Given the description of an element on the screen output the (x, y) to click on. 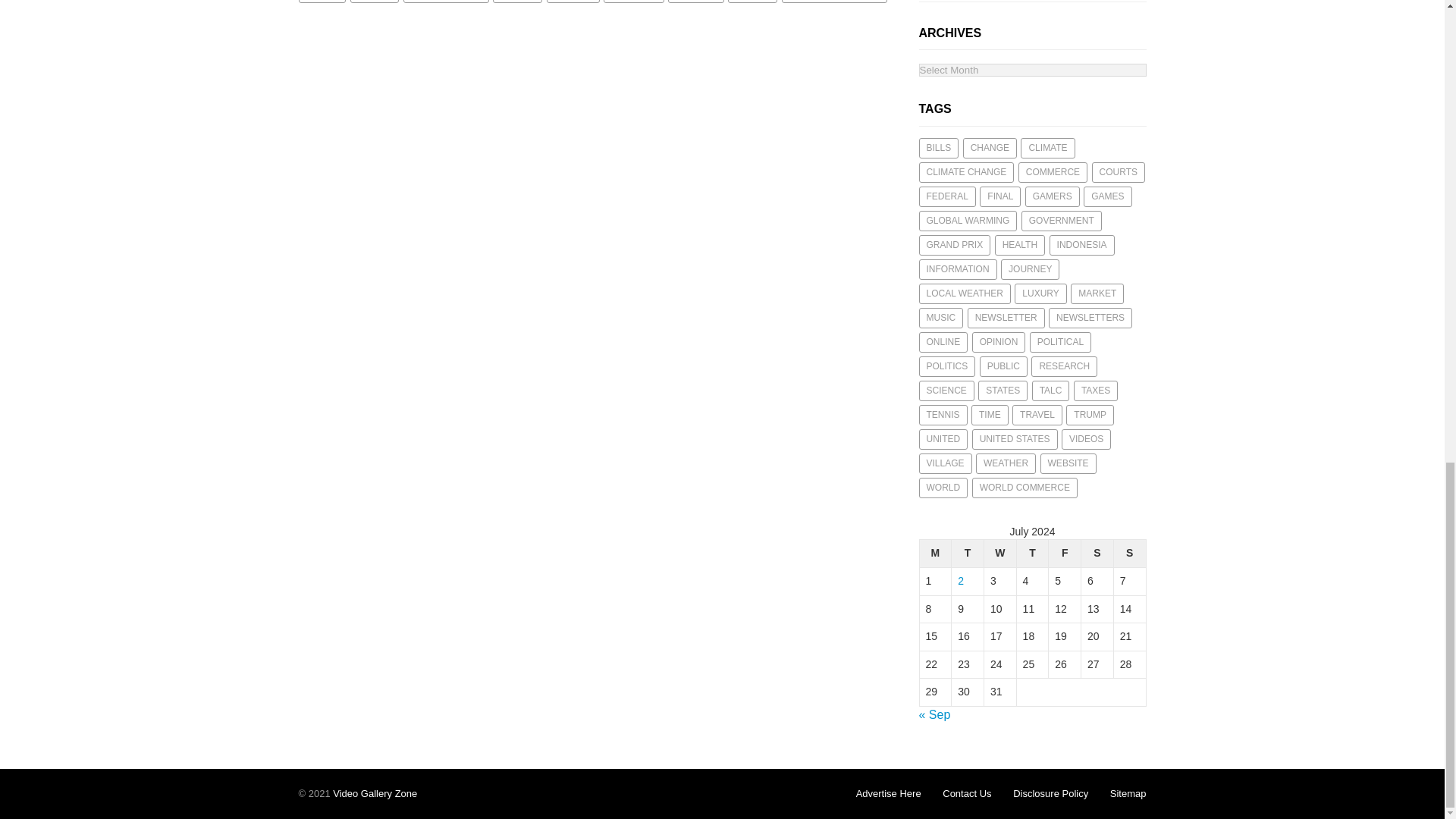
Sunday (1129, 553)
Wednesday (1000, 553)
Monday (935, 553)
Thursday (1032, 553)
Friday (1064, 553)
Saturday (1097, 553)
Tuesday (968, 553)
